Given the description of an element on the screen output the (x, y) to click on. 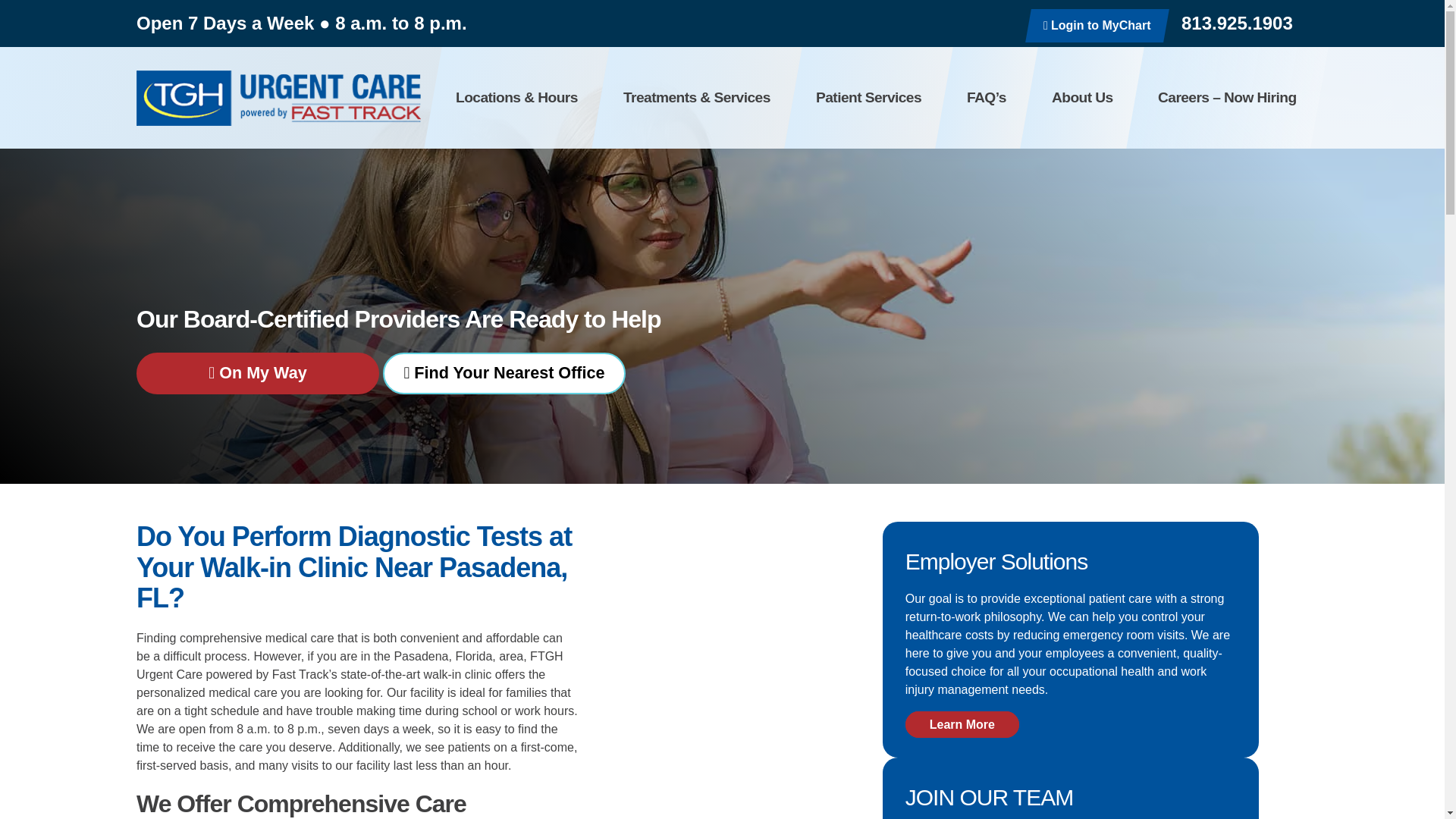
813.925.1903 (1232, 23)
About Us (1082, 97)
Patient Services (868, 97)
TGH Urgent Care powered by Fast Track (278, 97)
Login to MyChart (1094, 25)
